Given the description of an element on the screen output the (x, y) to click on. 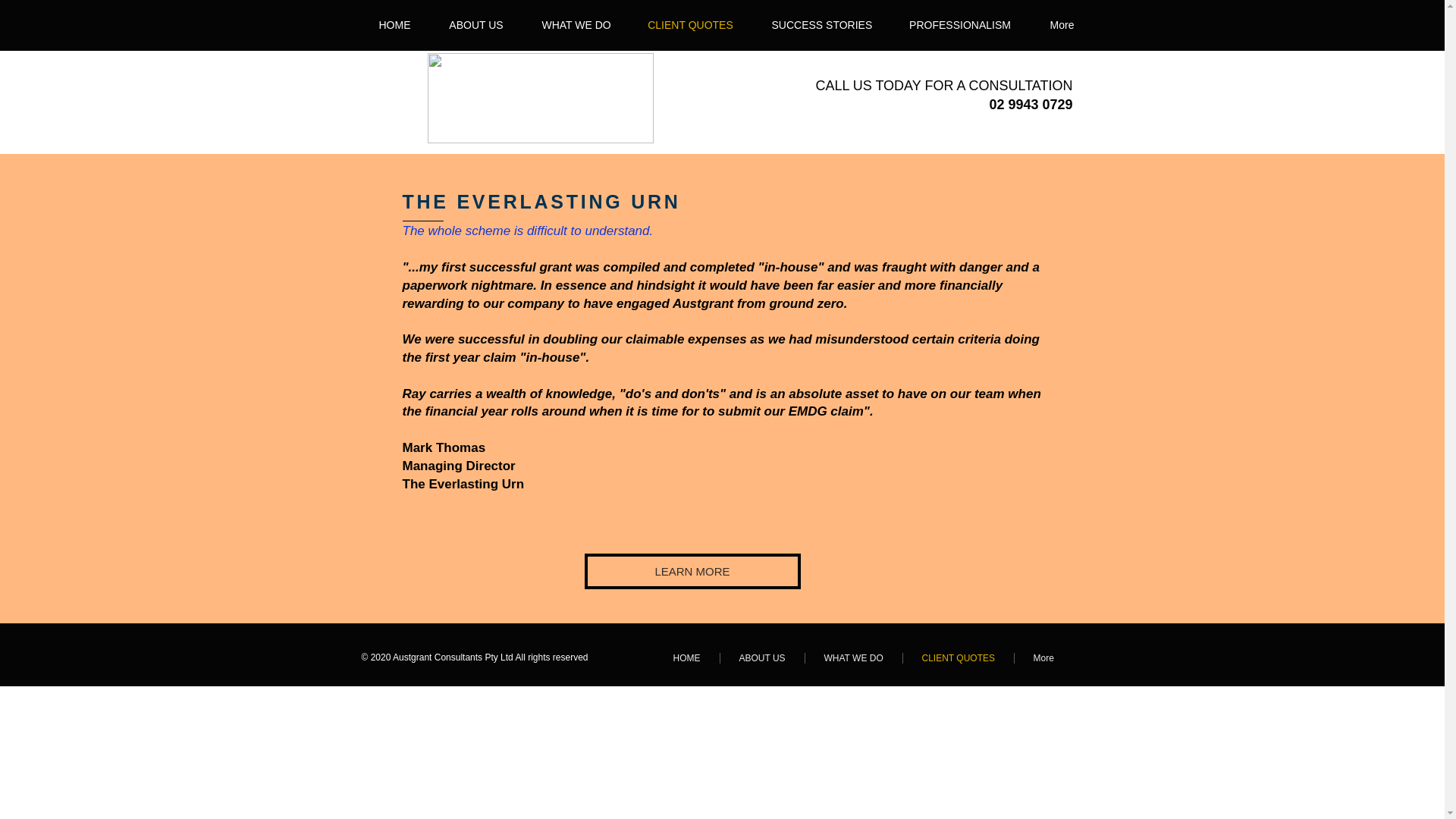
HOME (394, 24)
CLIENT QUOTES (689, 24)
ABOUT US (762, 657)
LEARN MORE (691, 570)
CLIENT QUOTES (957, 657)
SUCCESS STORIES (820, 24)
ABOUT US (475, 24)
WHAT WE DO (853, 657)
PROFESSIONALISM (959, 24)
WHAT WE DO (575, 24)
